Given the description of an element on the screen output the (x, y) to click on. 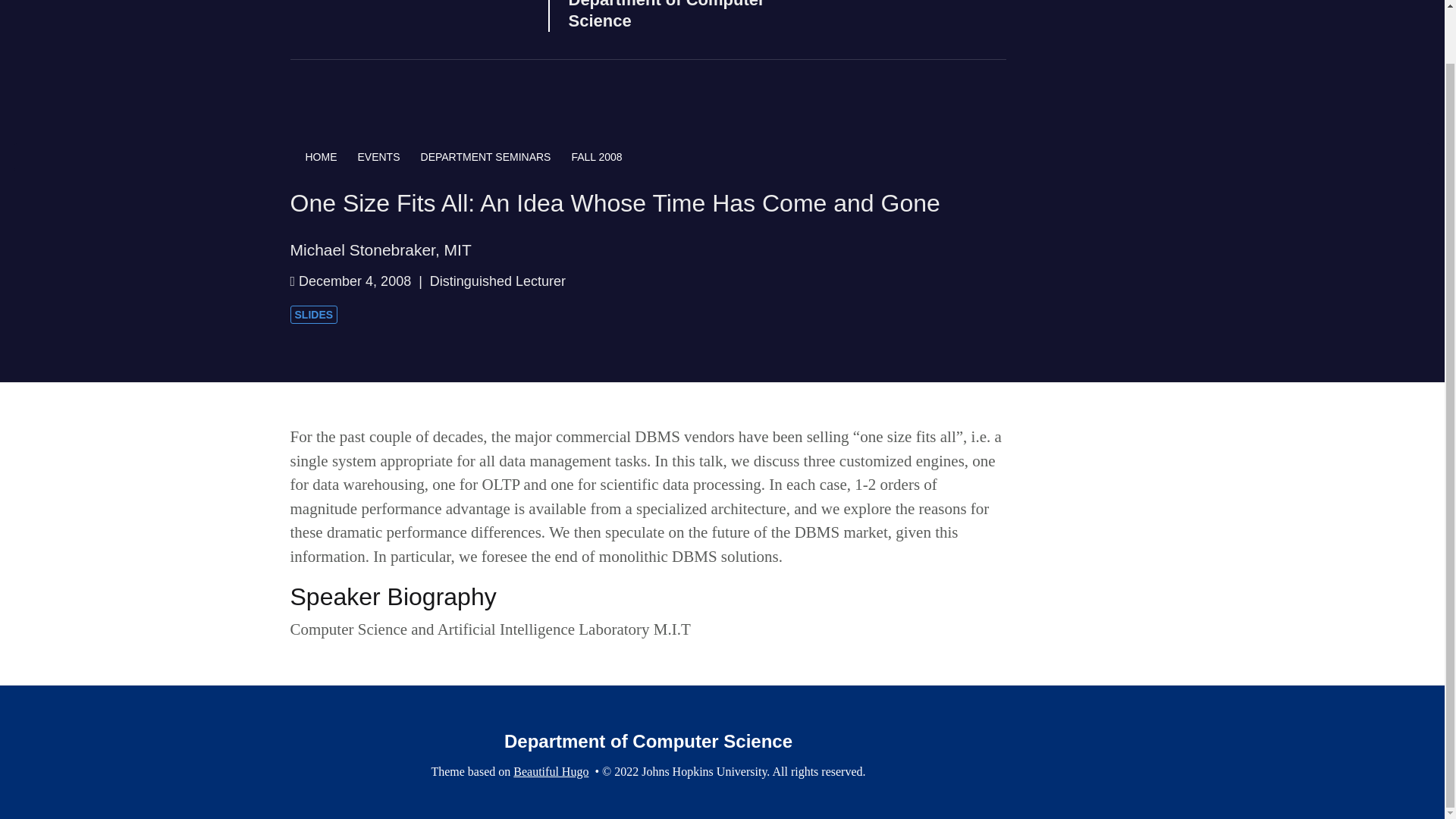
Department of Computer Science (408, 18)
FALL 2008 (595, 156)
HOME (322, 156)
Beautiful Hugo (550, 771)
Department of Computer Science (695, 15)
DEPARTMENT SEMINARS (496, 156)
SLIDES (313, 314)
EVENTS (389, 156)
